Given the description of an element on the screen output the (x, y) to click on. 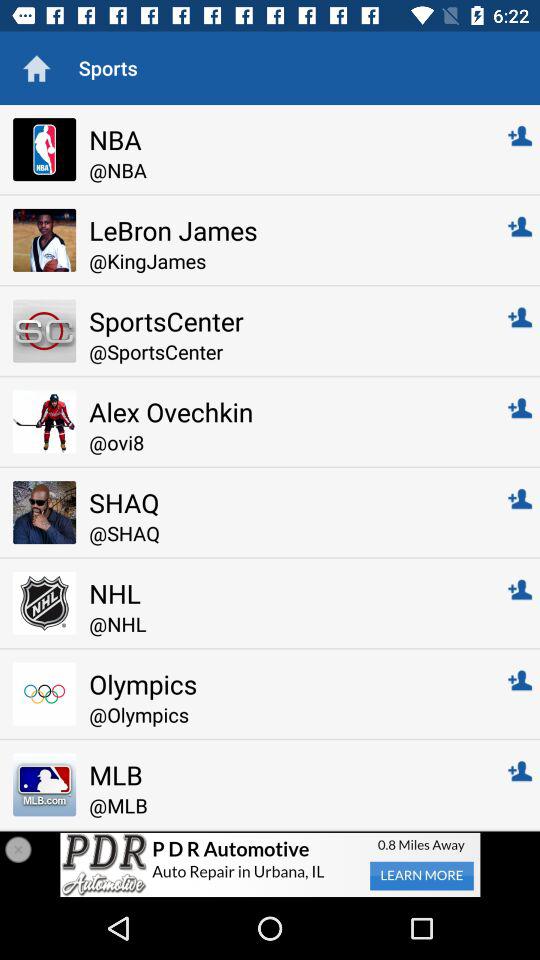
press the item above sportscenter icon (284, 260)
